Given the description of an element on the screen output the (x, y) to click on. 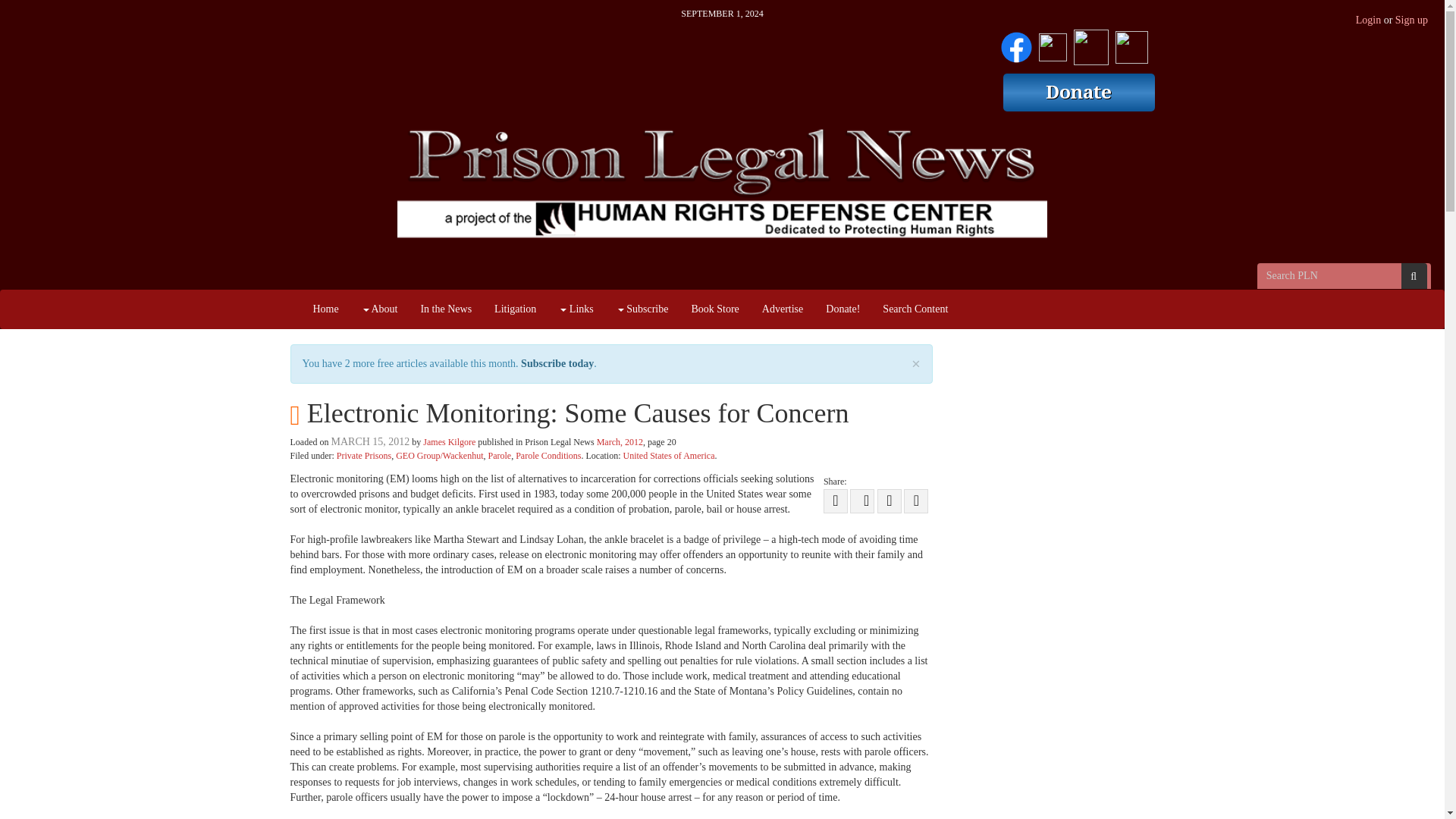
Home (325, 309)
Sign up (1411, 19)
Search (1413, 275)
In the News (446, 309)
Subscribe (642, 309)
James Kilgore (449, 441)
March, 2012 (619, 441)
Litigation (515, 309)
HRDC Instagram Page (1091, 44)
About (379, 309)
